Given the description of an element on the screen output the (x, y) to click on. 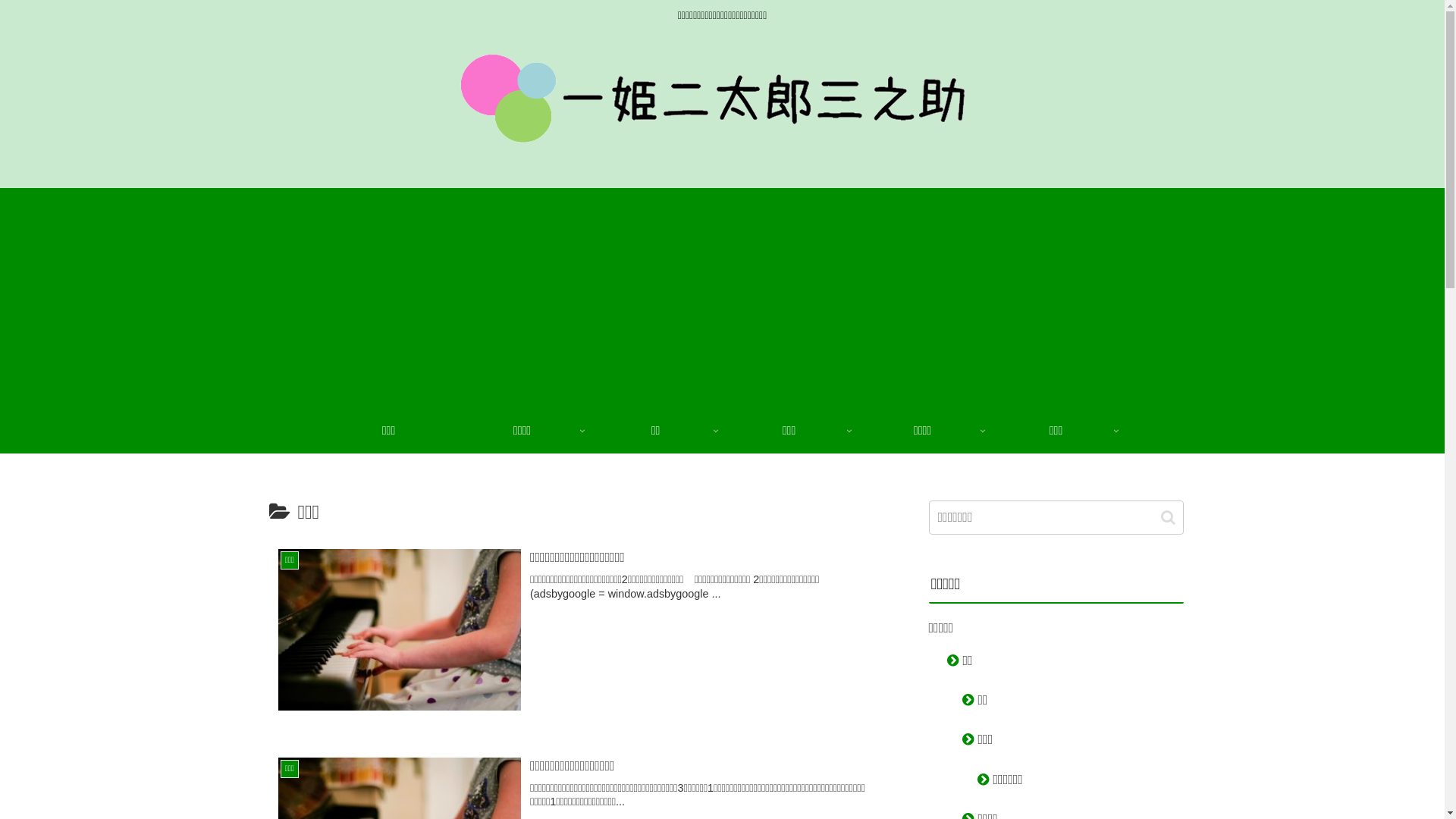
Advertisement Element type: hover (721, 294)
